Given the description of an element on the screen output the (x, y) to click on. 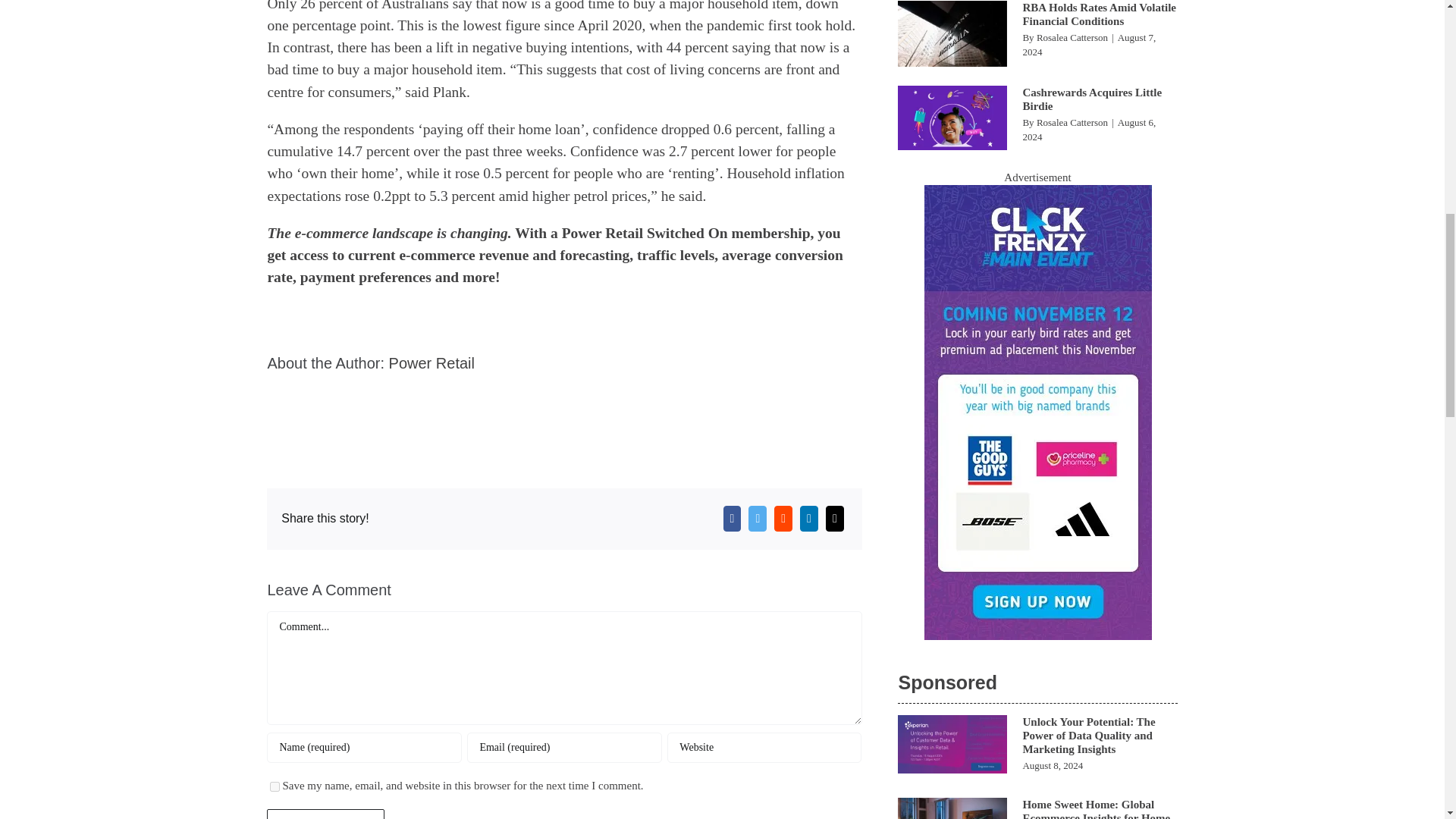
yes (274, 786)
Post Comment (325, 814)
Posts by Rosalea Catterson (1072, 37)
